Given the description of an element on the screen output the (x, y) to click on. 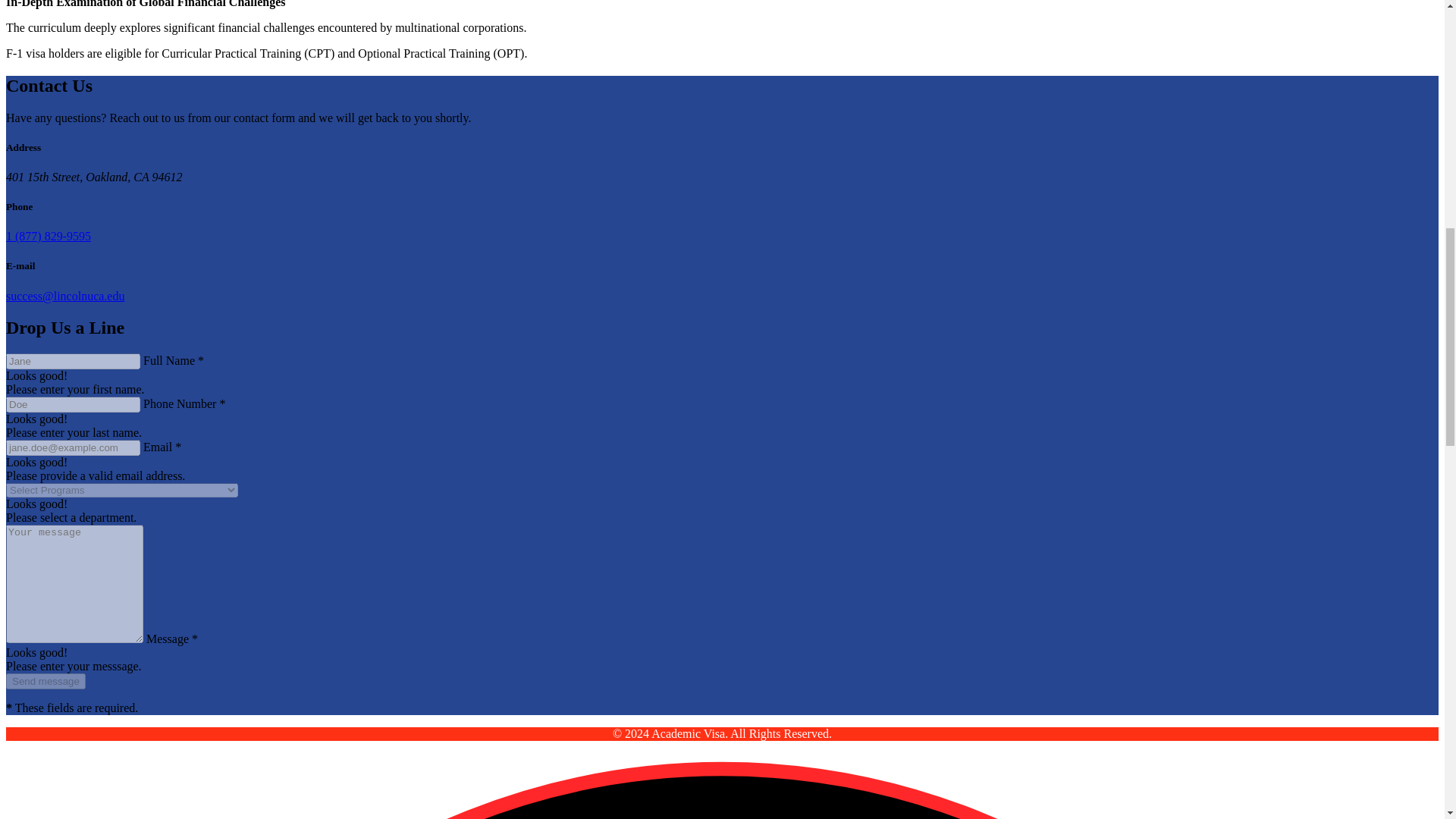
Send message (45, 681)
Send message (45, 681)
